Given the description of an element on the screen output the (x, y) to click on. 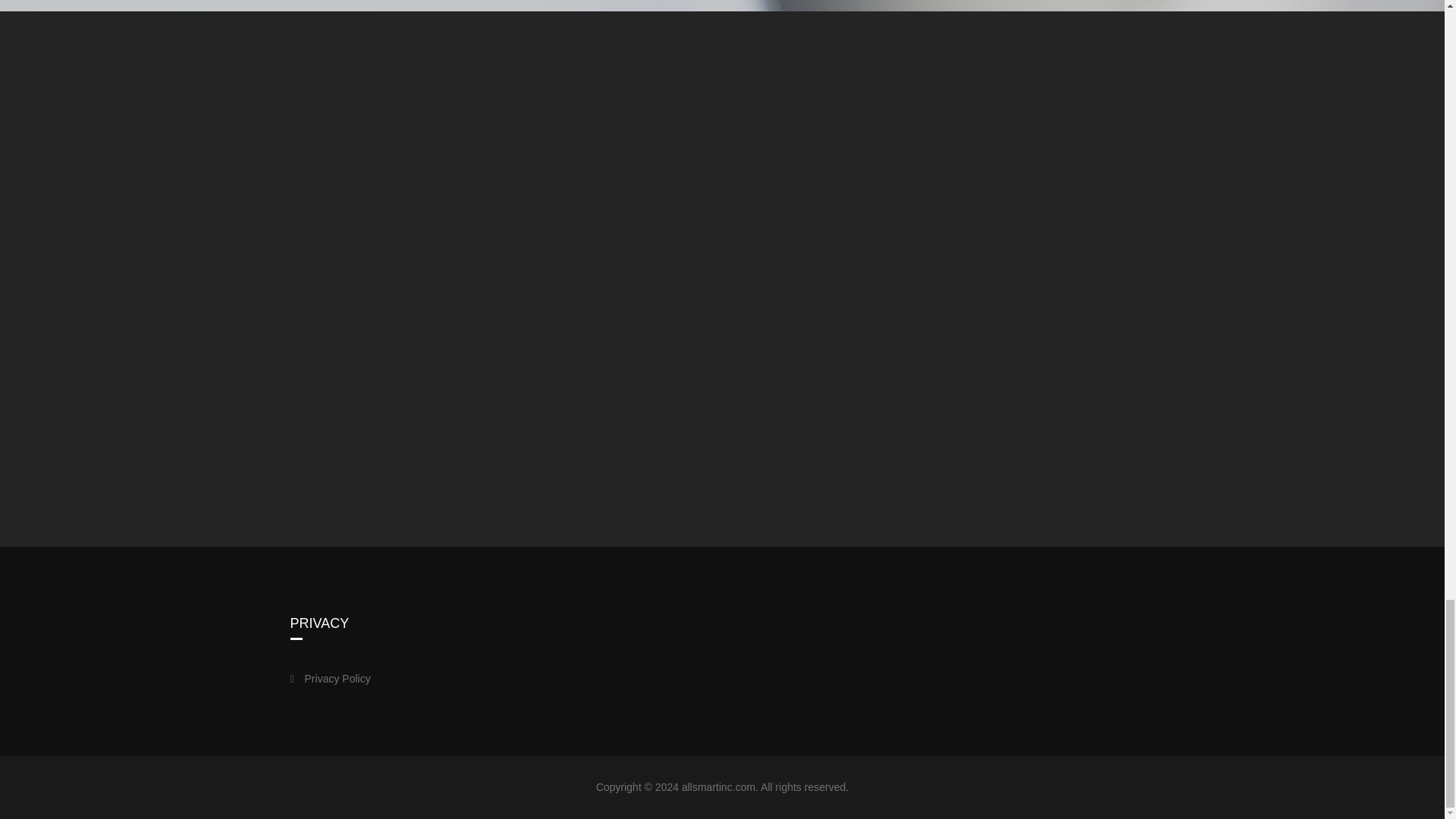
Privacy Policy (351, 662)
